Given the description of an element on the screen output the (x, y) to click on. 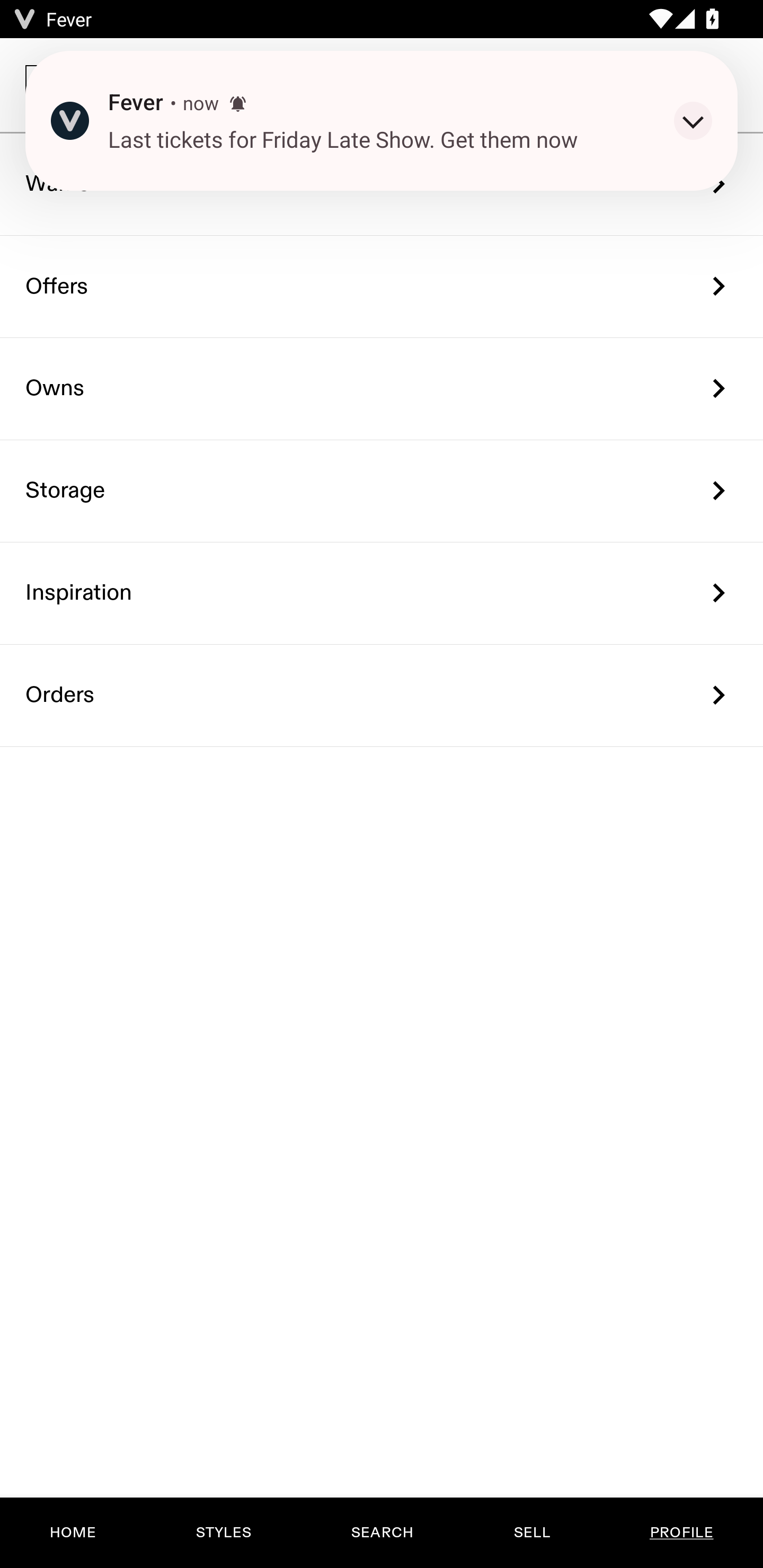
Offers (381, 286)
Owns (381, 388)
Storage (381, 491)
Inspiration (381, 593)
Orders (381, 695)
HOME (72, 1532)
STYLES (222, 1532)
SEARCH (381, 1532)
SELL (531, 1532)
PROFILE (681, 1532)
